Given the description of an element on the screen output the (x, y) to click on. 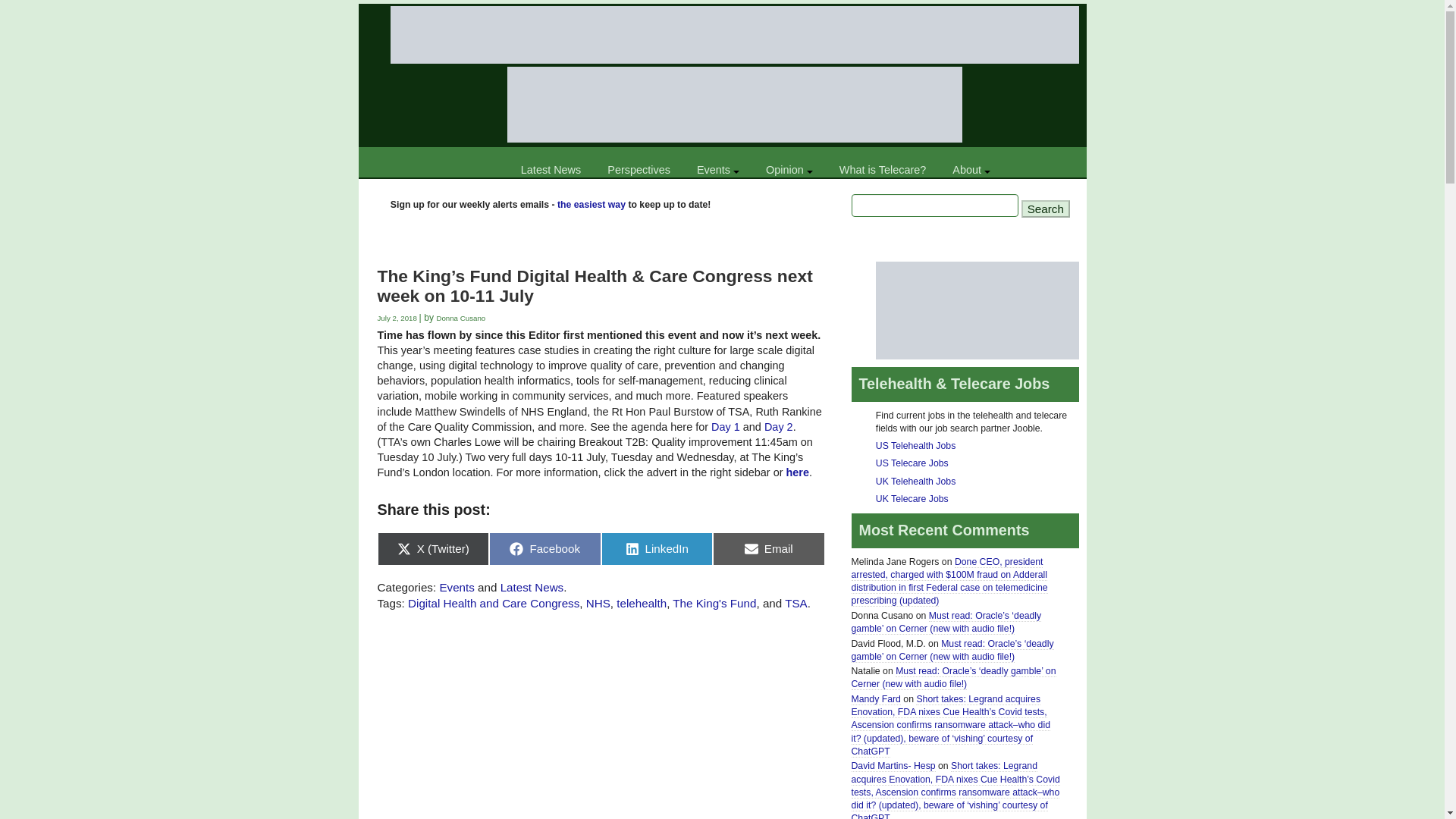
Opinion (789, 169)
About (970, 169)
Search (1046, 208)
Search (1046, 208)
the easiest way (591, 204)
Latest News (550, 169)
Perspectives (638, 169)
Events (717, 169)
What is Telecare? (882, 169)
